Given the description of an element on the screen output the (x, y) to click on. 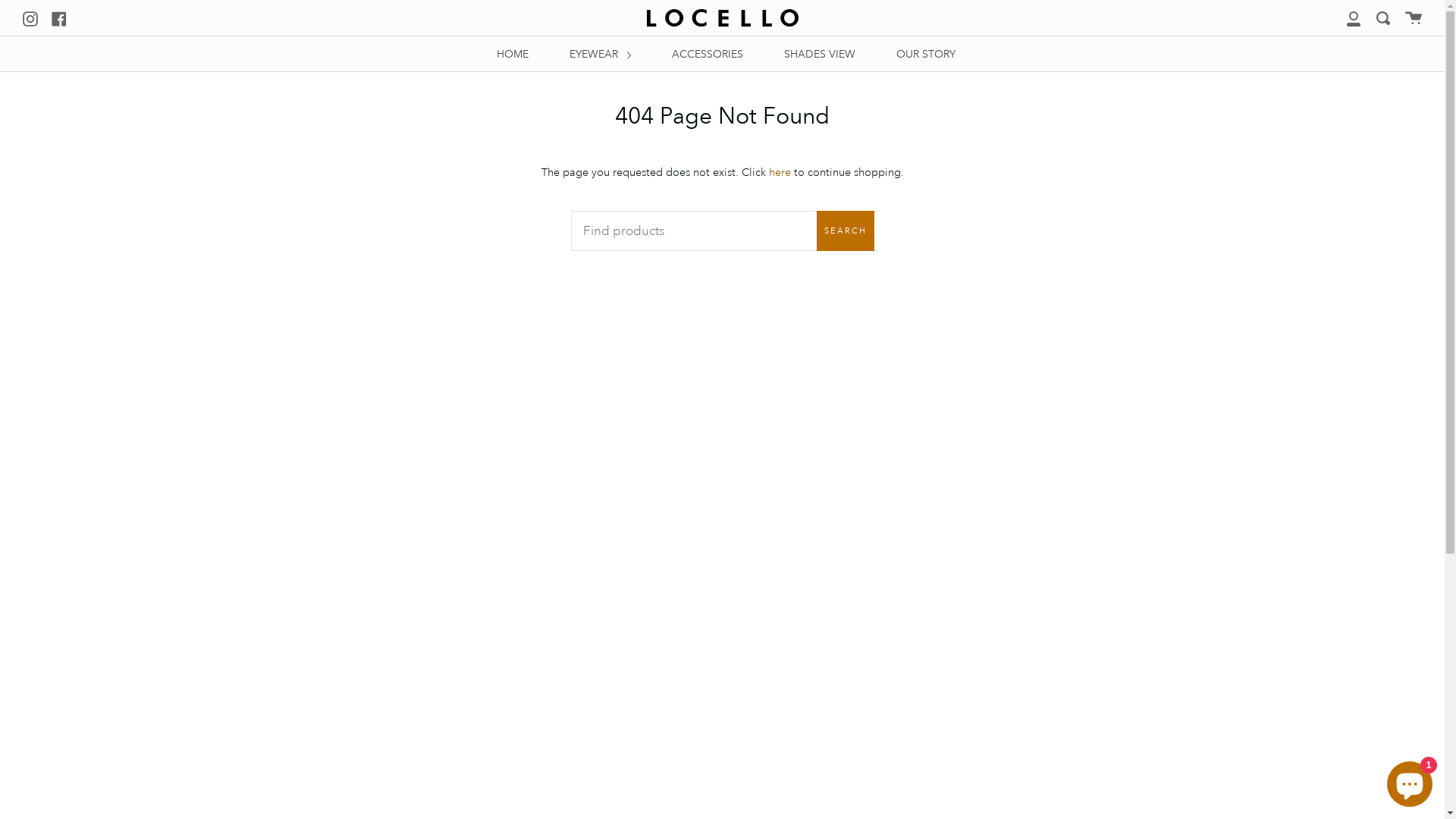
SHADES VIEW Element type: text (819, 53)
SEARCH Element type: text (844, 230)
HOME Element type: text (512, 53)
here Element type: text (779, 171)
OUR STORY Element type: text (925, 53)
Cart Element type: text (1413, 17)
Facebook Element type: text (58, 16)
My Account Element type: text (1353, 17)
EYEWEAR Element type: text (599, 53)
Instagram Element type: text (29, 16)
Search Element type: text (1383, 17)
Shopify online store chat Element type: hover (1409, 780)
ACCESSORIES Element type: text (707, 53)
